Given the description of an element on the screen output the (x, y) to click on. 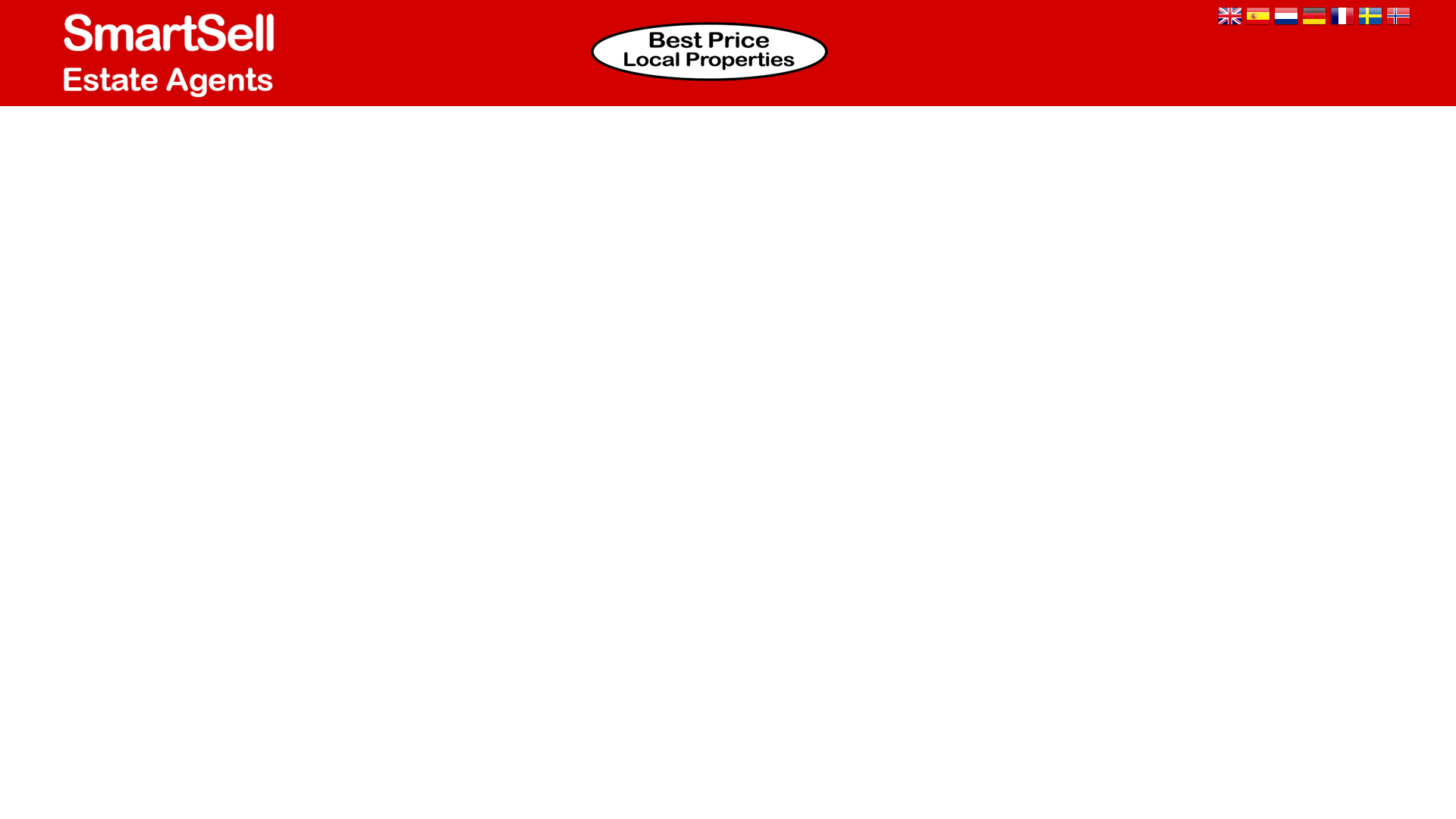
French (1342, 17)
German (1313, 17)
Norwegian (1398, 17)
English (1229, 17)
Smartsell - Best Price Local Properties (708, 51)
Swedish (1369, 17)
Dutch (1286, 17)
Spanish (1257, 17)
